Given the description of an element on the screen output the (x, y) to click on. 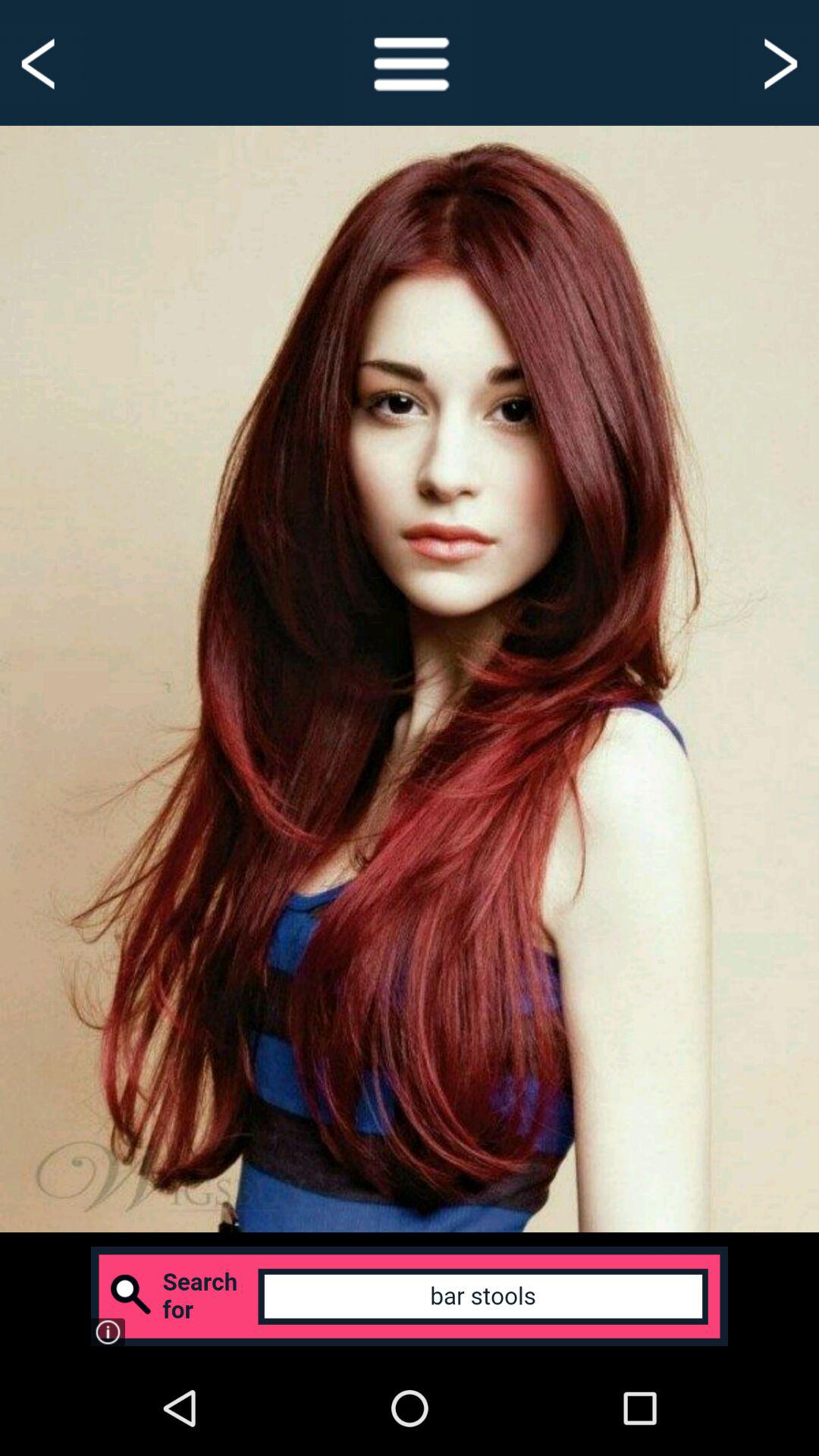
back button (40, 62)
